Given the description of an element on the screen output the (x, y) to click on. 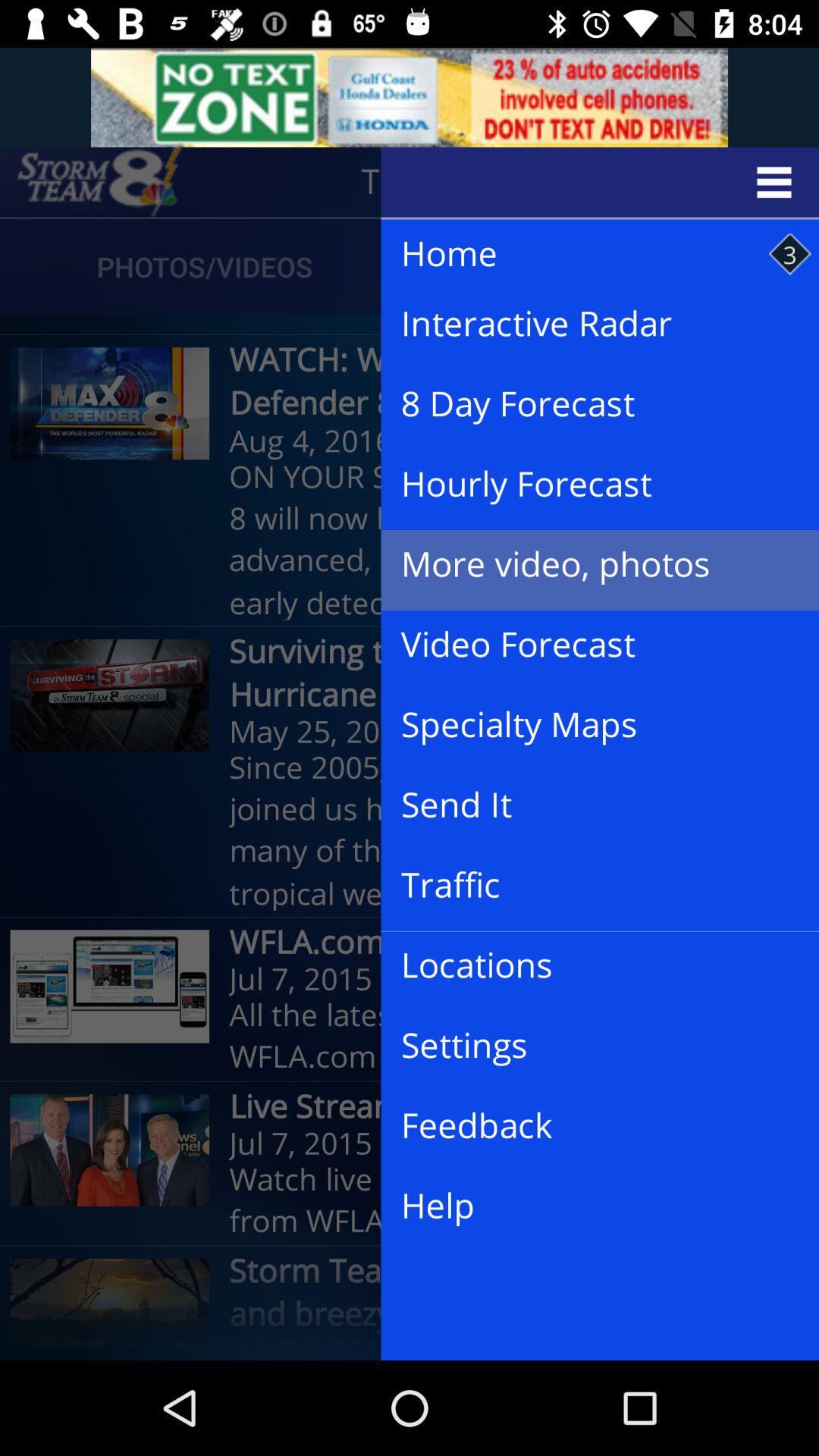
swipe until home icon (584, 254)
